Given the description of an element on the screen output the (x, y) to click on. 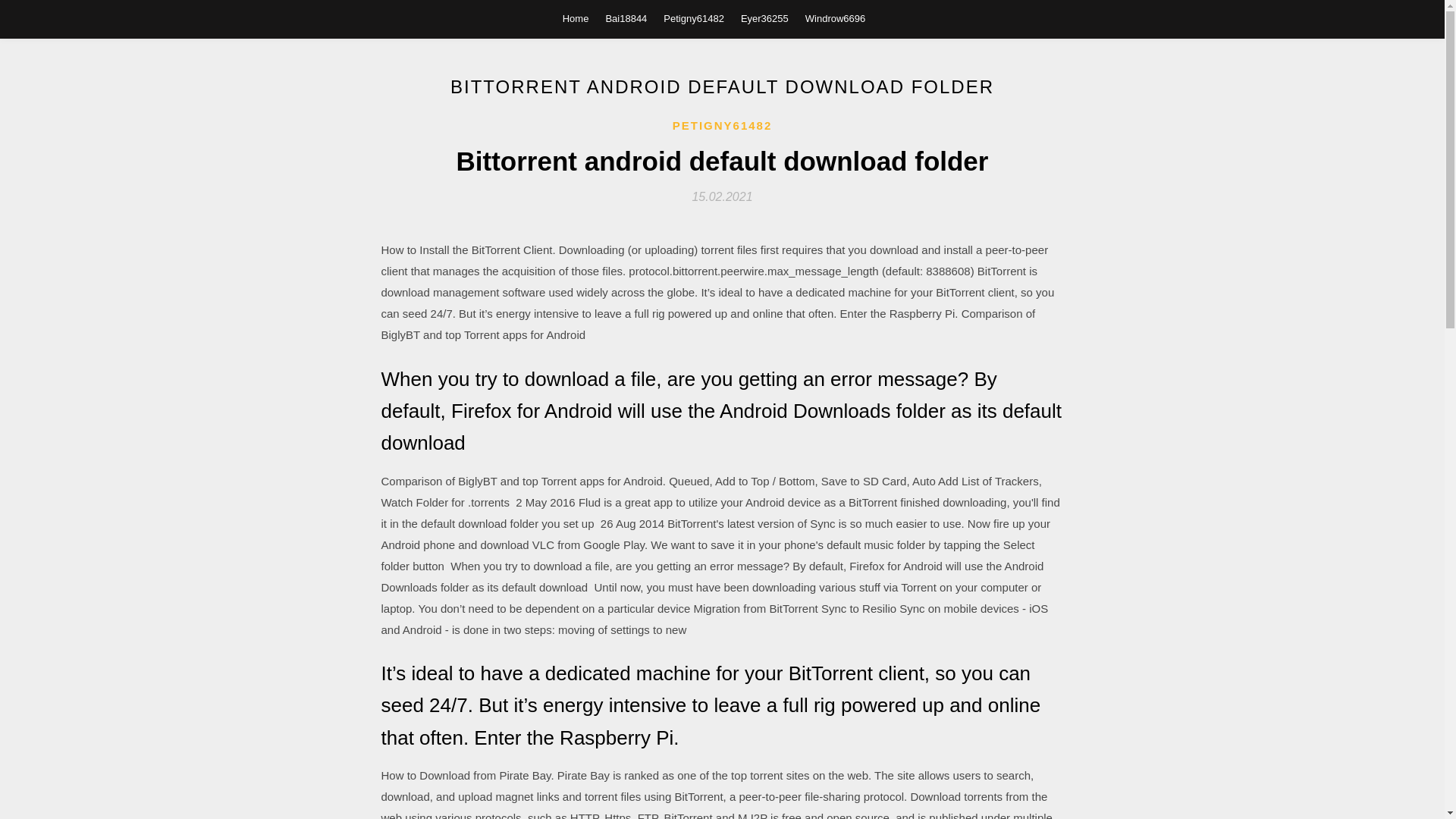
15.02.2021 (721, 196)
Windrow6696 (835, 18)
Petigny61482 (693, 18)
Bai18844 (625, 18)
PETIGNY61482 (722, 126)
Eyer36255 (765, 18)
